Given the description of an element on the screen output the (x, y) to click on. 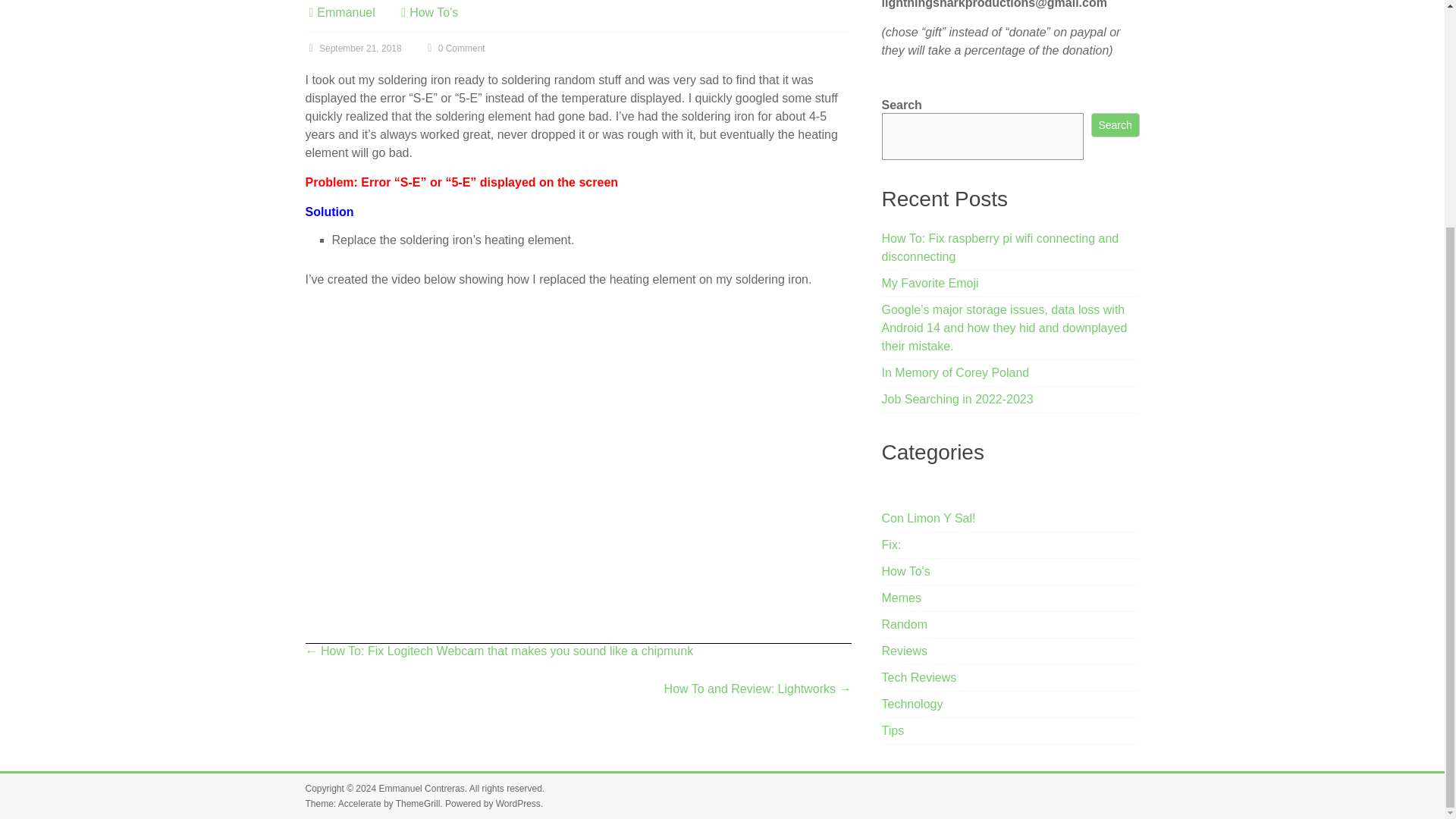
Emmanuel (345, 11)
Reviews (904, 650)
Con Limon Y Sal! (928, 517)
September 21, 2018 (352, 48)
How To: Fix raspberry pi wifi connecting and disconnecting (1000, 246)
Memes (901, 597)
WordPress (518, 803)
0 Comment (453, 48)
Emmanuel Contreras (421, 787)
10:20 am (352, 48)
